Given the description of an element on the screen output the (x, y) to click on. 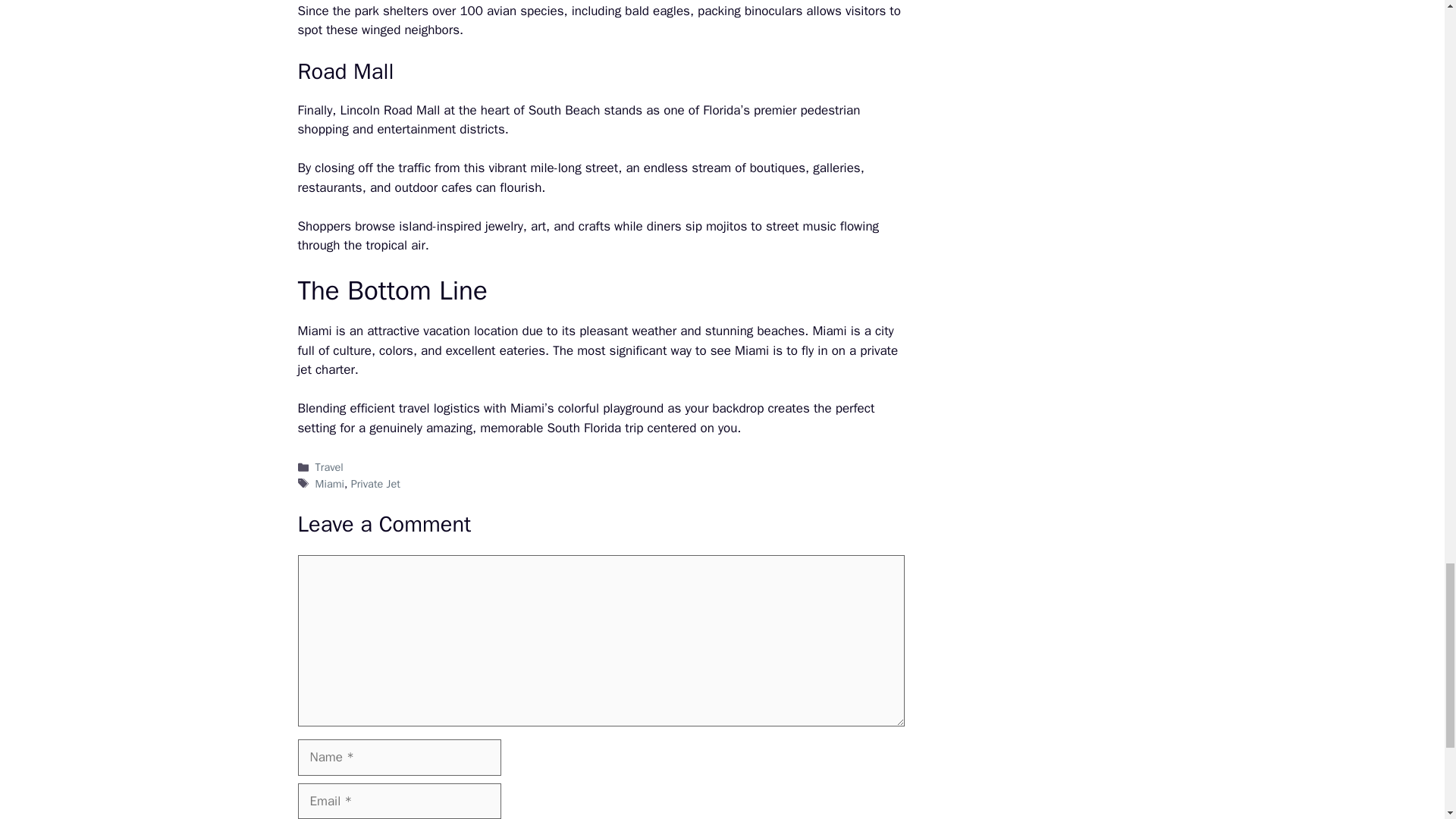
Travel (329, 467)
Miami (329, 483)
Private Jet (375, 483)
